Given the description of an element on the screen output the (x, y) to click on. 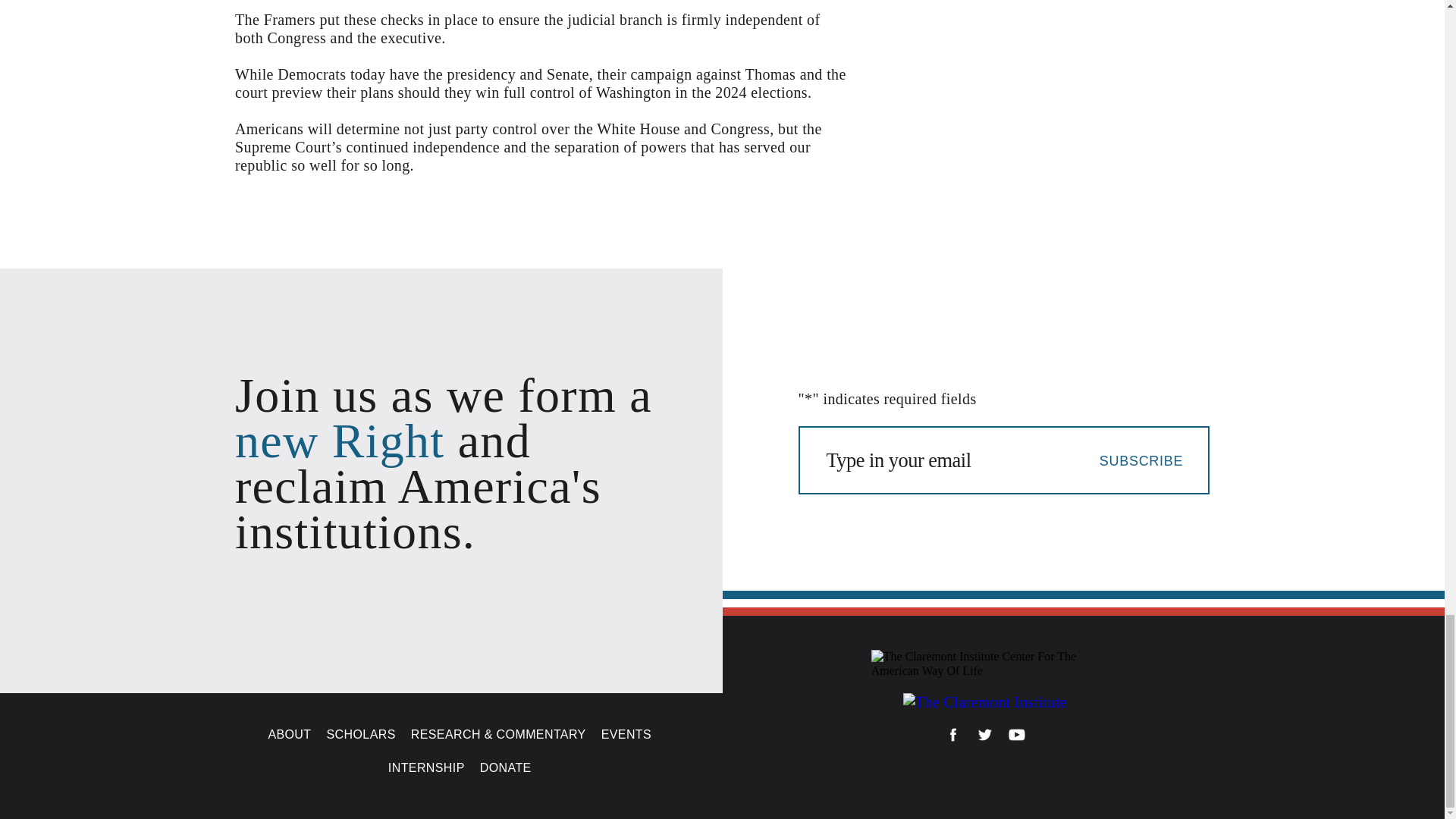
DONATE (505, 768)
YouTube (1017, 737)
EVENTS (625, 734)
Twitter (984, 737)
Facebook (952, 737)
SUBSCRIBE (1141, 459)
ABOUT (289, 734)
INTERNSHIP (426, 768)
The Claremont Institute (984, 701)
